Given the description of an element on the screen output the (x, y) to click on. 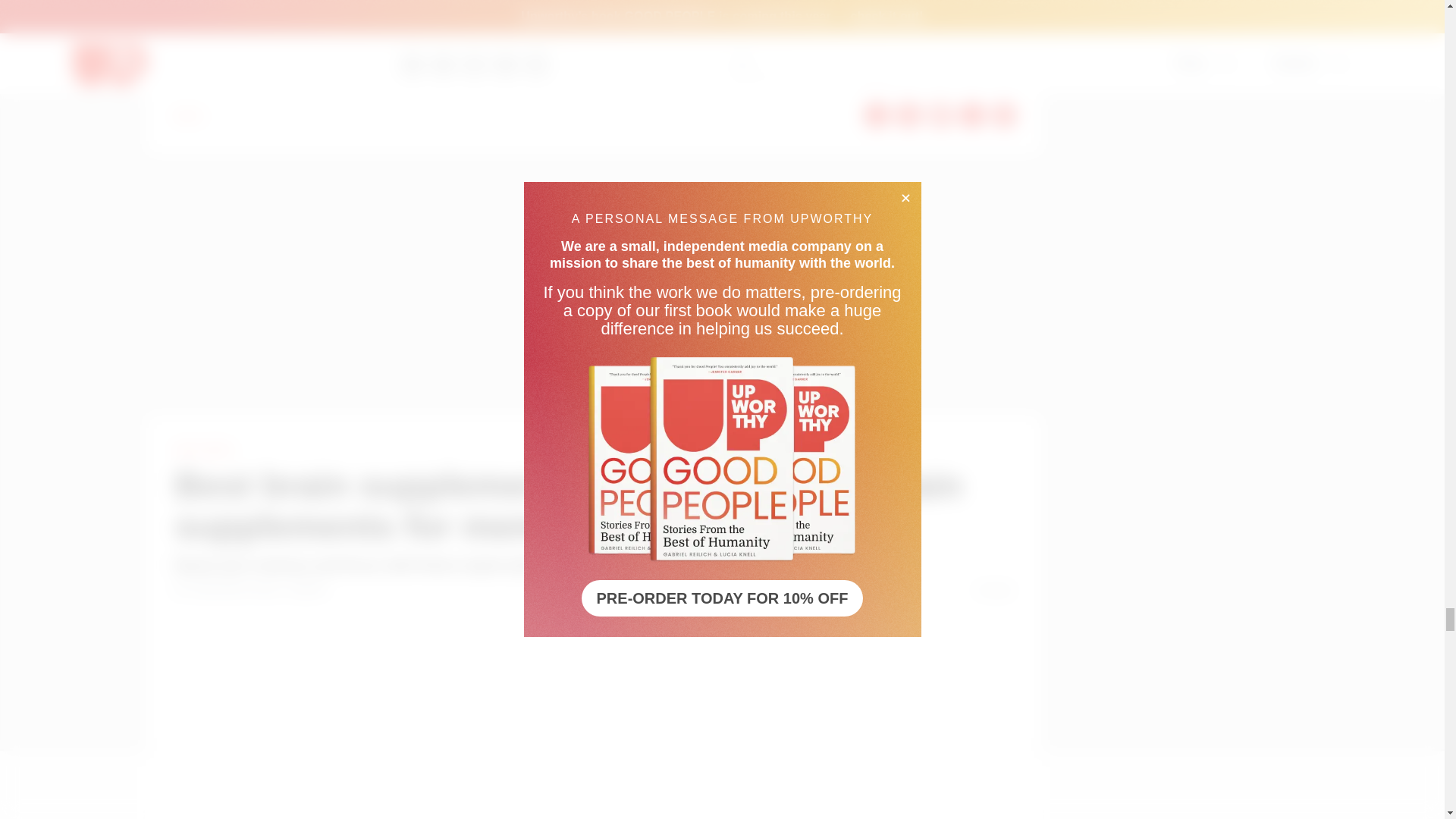
Copy this link to clipboard (1003, 115)
